Given the description of an element on the screen output the (x, y) to click on. 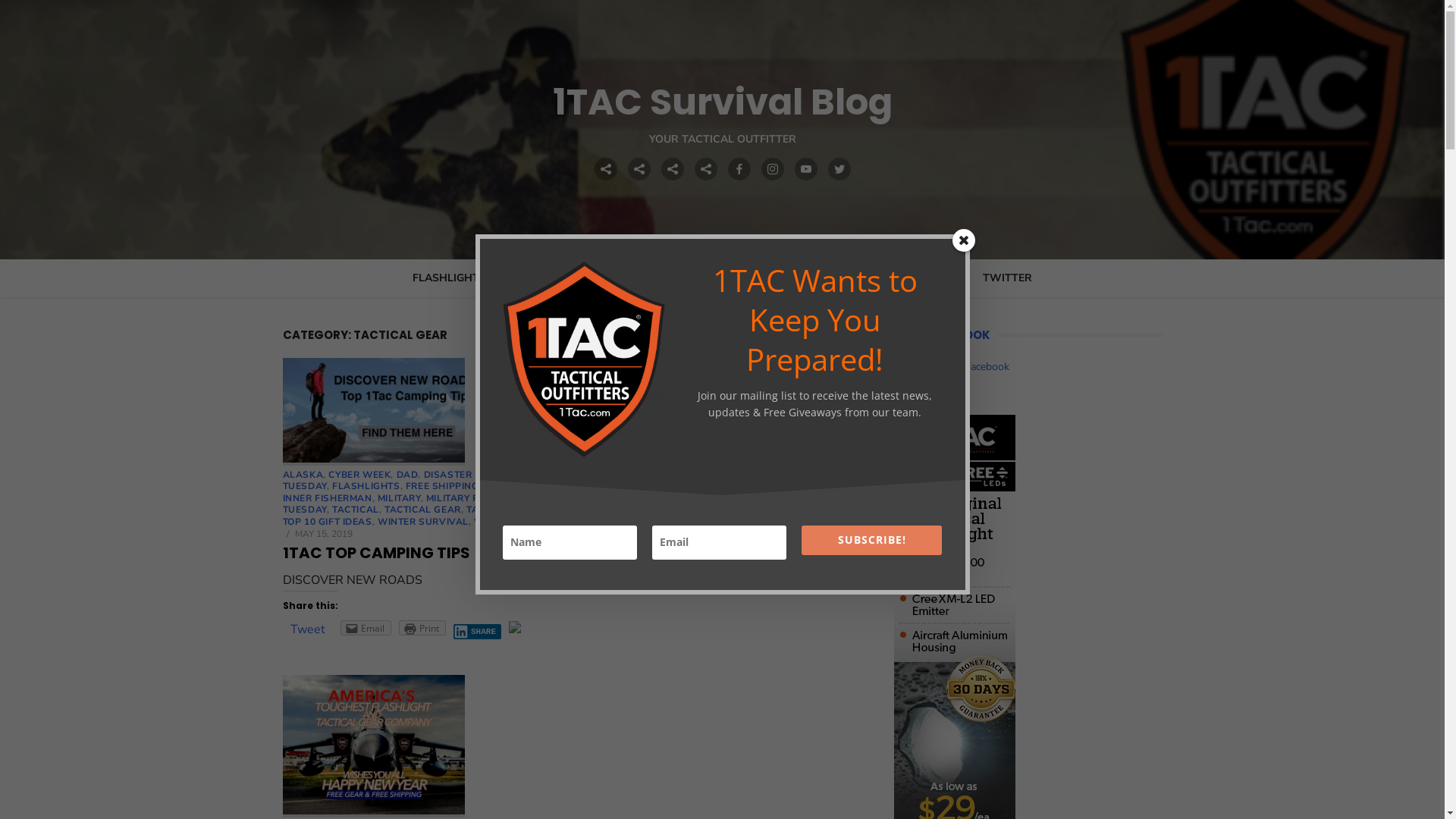
1TAC Facebook Element type: text (972, 366)
SUBSCRIBE! Element type: text (871, 539)
STAY PREPARED Element type: text (698, 498)
READ MORE Element type: text (603, 581)
DAD Element type: text (407, 474)
ALASKA Element type: text (302, 474)
GIFT GUIDE Element type: text (511, 486)
1TAC TOP CAMPING TIPS Element type: text (375, 552)
1TAC FACEBOOK Element type: text (942, 334)
TACTICAL TUESDAY GIFT GUIDE Element type: text (641, 509)
DISASTER RESPONSE Element type: text (475, 474)
TACTICAL KITS Element type: text (543, 278)
HOLIDAY GIFT IDEAS Element type: text (783, 486)
SURVIVAL Element type: text (768, 498)
HAPPY HOLIDAYS FIRST RESPONDERS Element type: text (636, 486)
WINTER SURVIVAL Element type: text (422, 521)
ACCESSORIES Element type: text (701, 278)
Print Element type: text (421, 627)
TC1200 PRO FLASHLIGHT Element type: text (783, 509)
FISHERMAN'S BEND WEEKEND Element type: text (693, 474)
WOMEN WHO FISH Element type: text (518, 521)
FISHING TACKLE TUESDAY Element type: text (566, 480)
MILITARY FAMILIES Element type: text (471, 498)
TWITTER Element type: text (1007, 278)
INSTAGRAM Element type: text (864, 278)
Tweet Element type: text (306, 629)
MILITARY MOMS Element type: text (559, 498)
TACKLE TUESDAY Element type: text (558, 504)
INNER FISHERMAN Element type: text (326, 498)
Email Element type: text (364, 627)
1TAC Survival Blog Element type: text (721, 101)
Skip to content Element type: text (0, 0)
FREE SHIPPING Element type: text (442, 486)
TACTICAL Element type: text (355, 509)
TOP 10 GIFT IDEAS Element type: text (326, 521)
FACEBOOK Element type: text (785, 278)
SHARE Element type: text (477, 631)
1TAC TOP CAMPING TIPS Element type: hover (373, 411)
HAPPY NEW YEAR FROM 1TAC Element type: hover (373, 746)
PREPPERS Element type: text (628, 498)
TACTICAL GEAR Element type: text (422, 509)
FIRST RESPONSE Element type: text (573, 474)
FLASHLIGHTS Element type: text (448, 278)
MILITARY Element type: text (398, 498)
FLASHLIGHTS Element type: text (366, 486)
TACTICAL TUESDAY Element type: text (513, 509)
1HYDRO Element type: text (623, 278)
CYBER WEEK Element type: text (359, 474)
YOUTUBE Element type: text (939, 278)
